Given the description of an element on the screen output the (x, y) to click on. 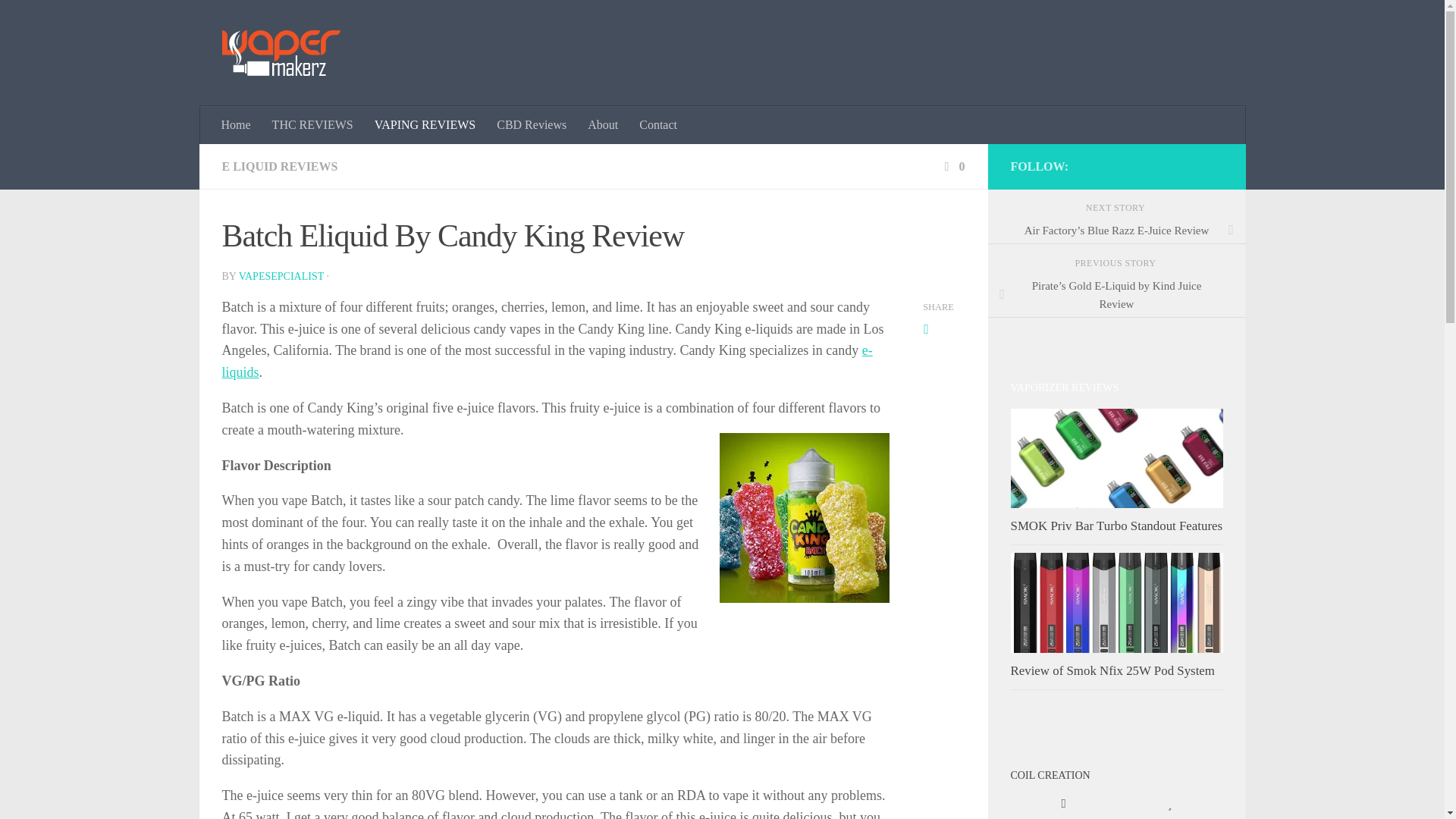
Recent Posts (1063, 803)
About (602, 125)
0 (951, 165)
VAPING REVIEWS (425, 125)
Skip to content (59, 20)
THC REVIEWS (313, 125)
Contact (657, 125)
e-liquids (546, 361)
Posts by VAPESEPCIALIST (280, 276)
Home (236, 125)
